Given the description of an element on the screen output the (x, y) to click on. 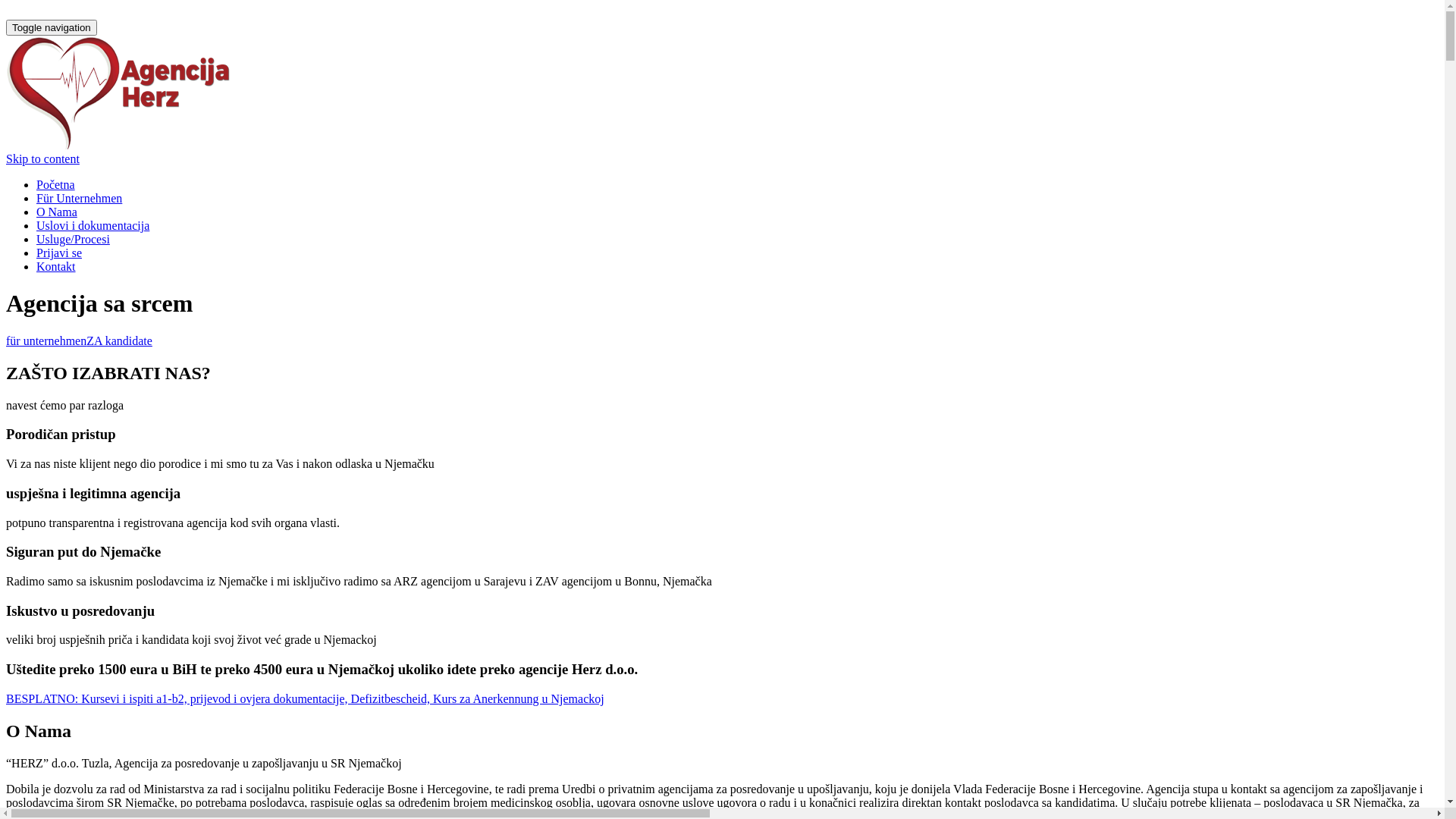
Usluge/Procesi Element type: text (72, 238)
Prijavi se Element type: text (58, 252)
Skip to content Element type: text (42, 158)
O Nama Element type: text (56, 211)
Uslovi i dokumentacija Element type: text (92, 225)
ZA kandidate Element type: text (119, 340)
Kontakt Element type: text (55, 266)
Toggle navigation Element type: text (51, 27)
